Given the description of an element on the screen output the (x, y) to click on. 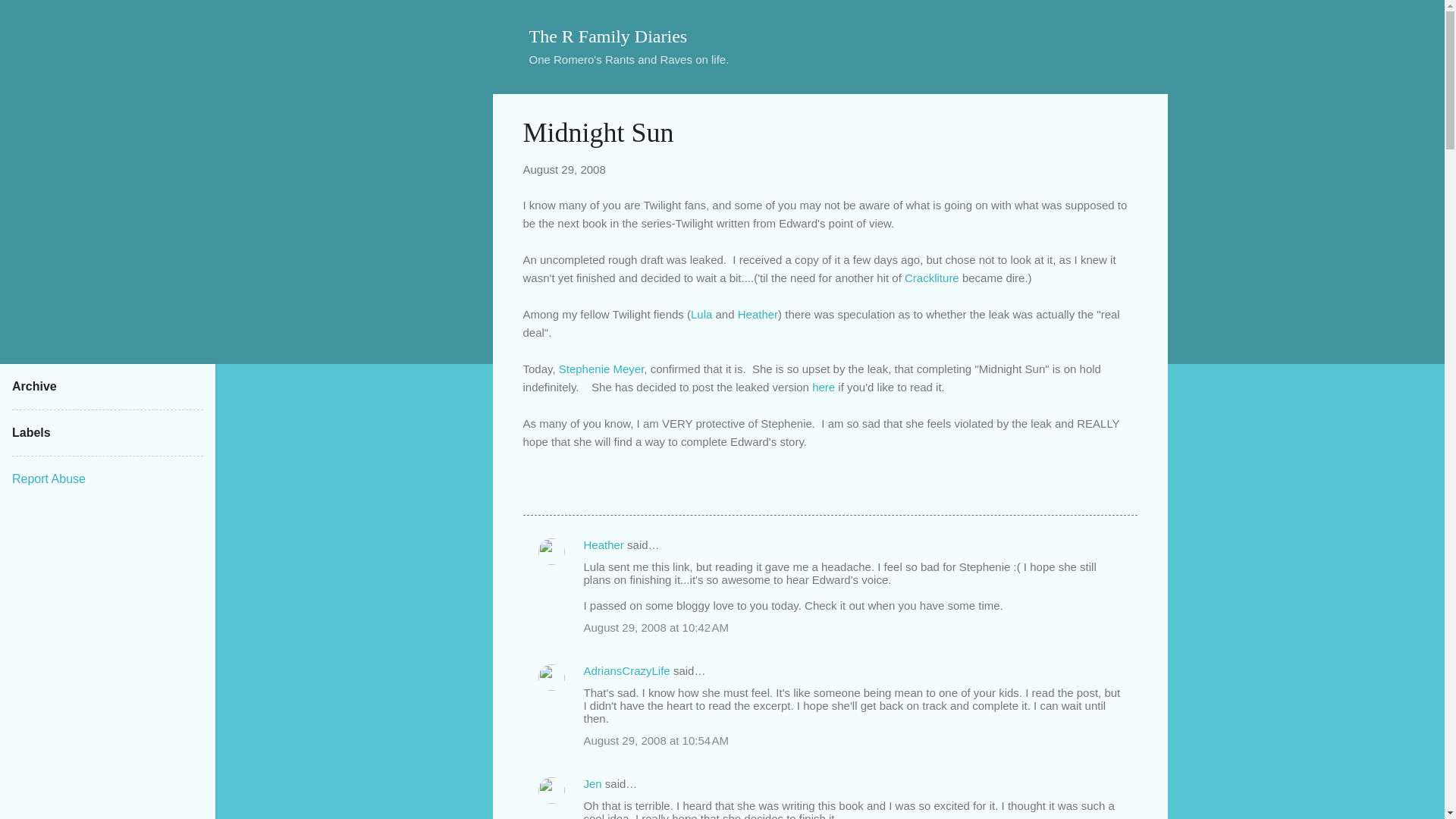
here (823, 386)
Jen (592, 783)
The R Family Diaries (608, 35)
AdriansCrazyLife (626, 670)
Stephenie Meyer (602, 368)
Search (29, 18)
Lula (700, 314)
Heather (603, 544)
permanent link (563, 169)
